Given the description of an element on the screen output the (x, y) to click on. 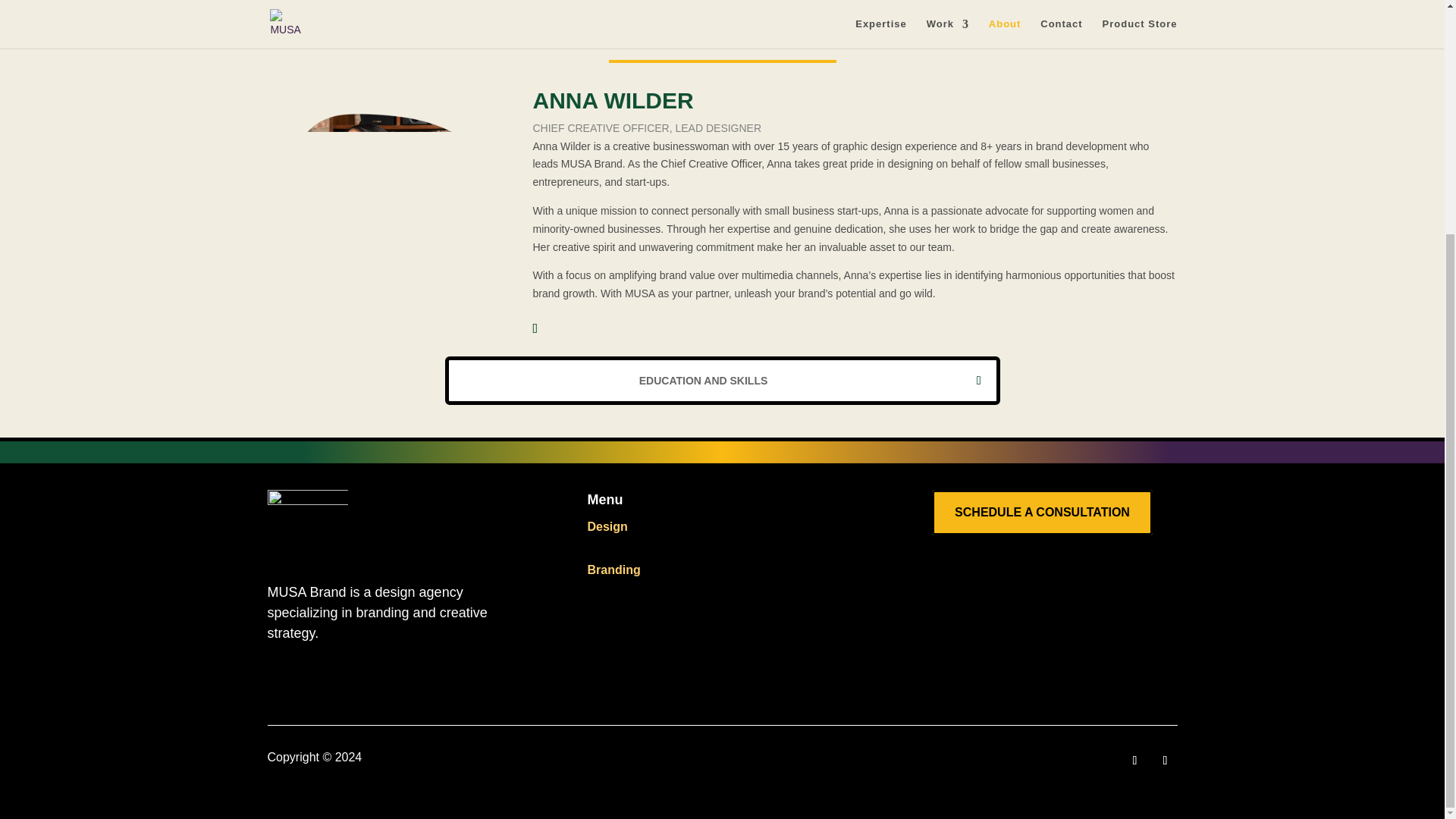
SCHEDULE A CONSULTATION (1042, 512)
Branding (613, 569)
Design (606, 526)
Follow on Pinterest (1164, 760)
musa-sampweb (306, 523)
Follow on Instagram (1134, 760)
